Given the description of an element on the screen output the (x, y) to click on. 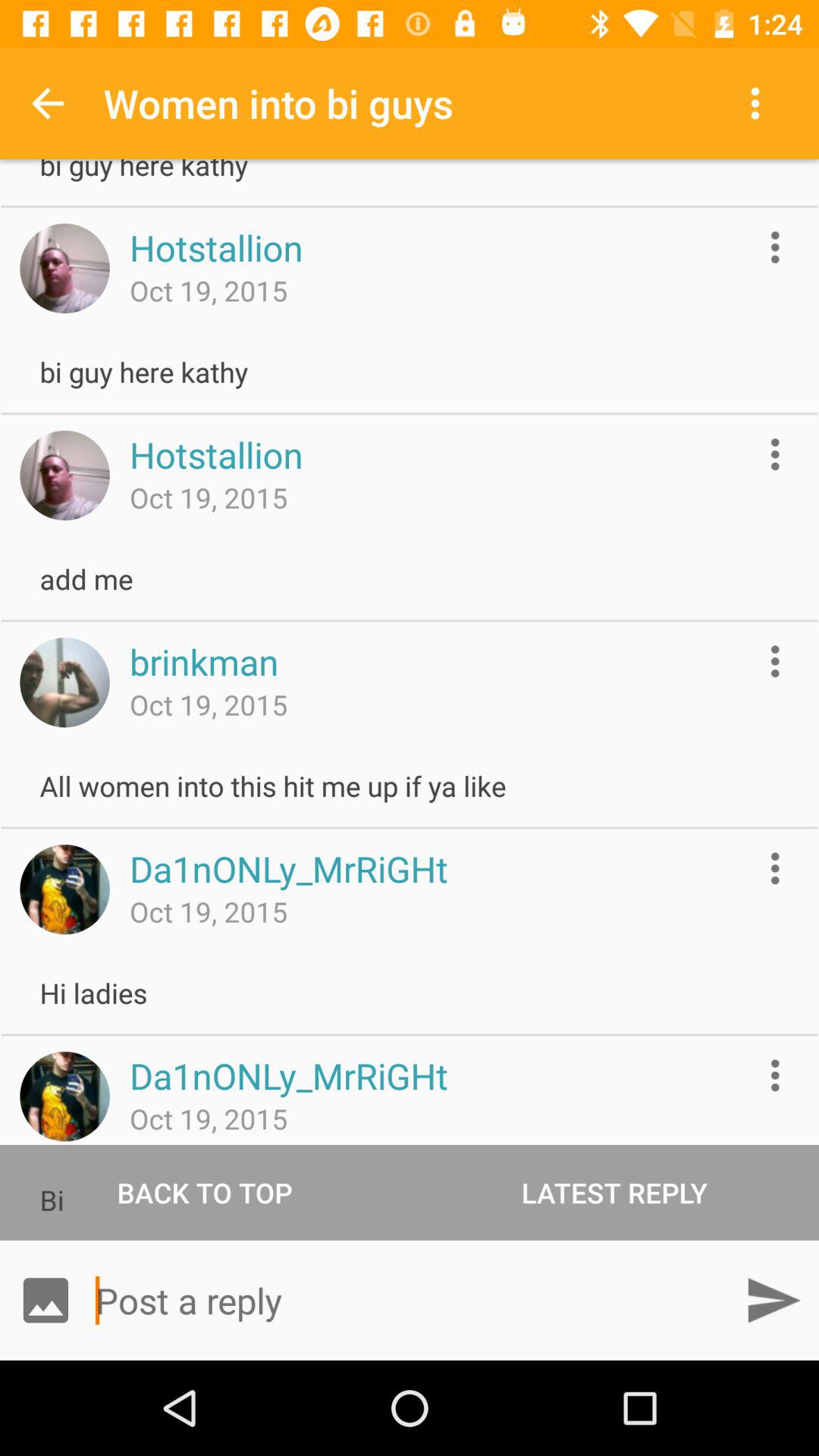
show details (775, 868)
